Given the description of an element on the screen output the (x, y) to click on. 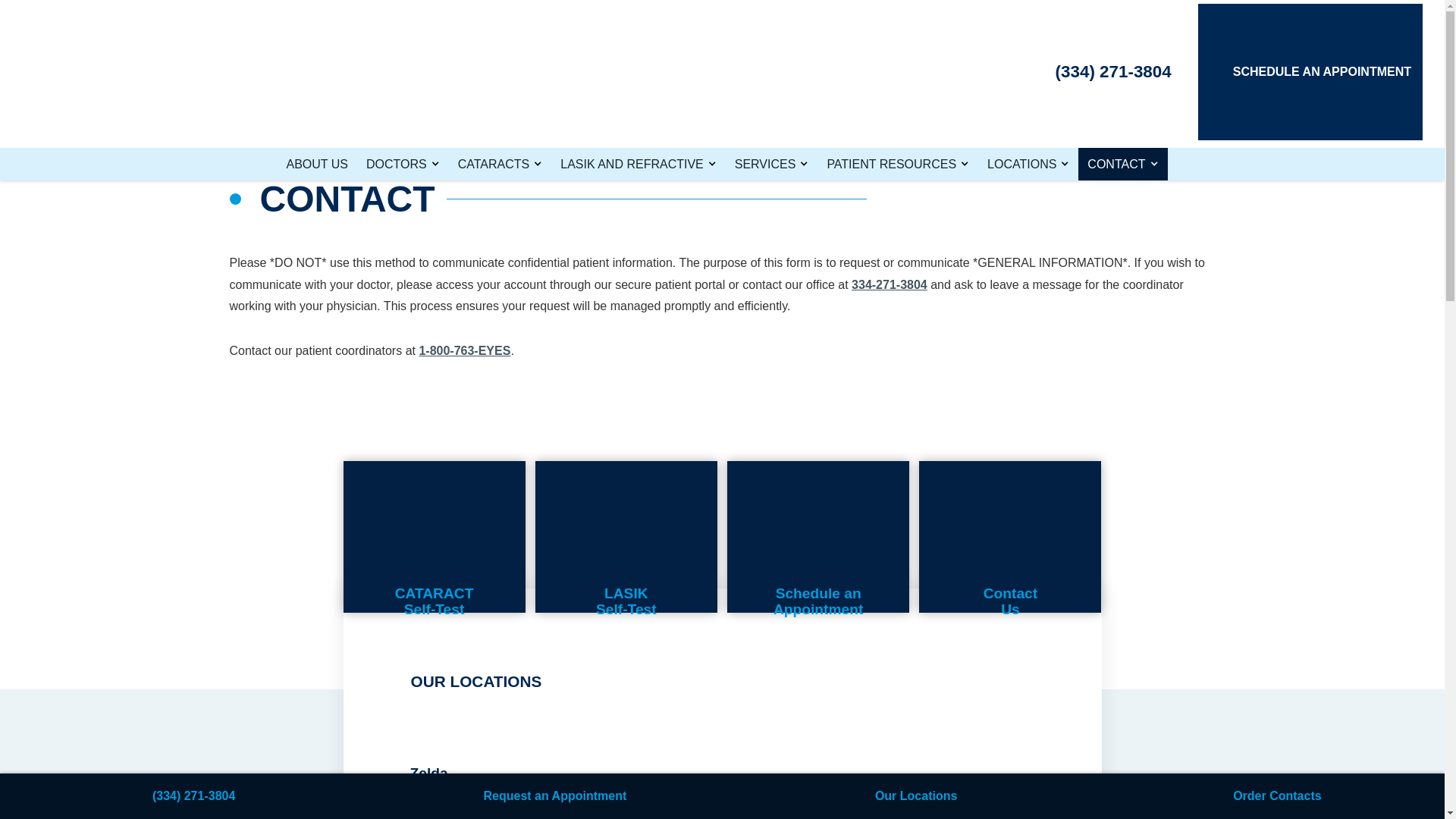
Go to homepage (121, 71)
SERVICES (771, 164)
PATIENT RESOURCES (897, 164)
LASIK AND REFRACTIVE (638, 164)
DOCTORS (402, 164)
CATARACTS (499, 164)
SCHEDULE AN APPOINTMENT (1310, 72)
ABOUT US (318, 164)
